Given the description of an element on the screen output the (x, y) to click on. 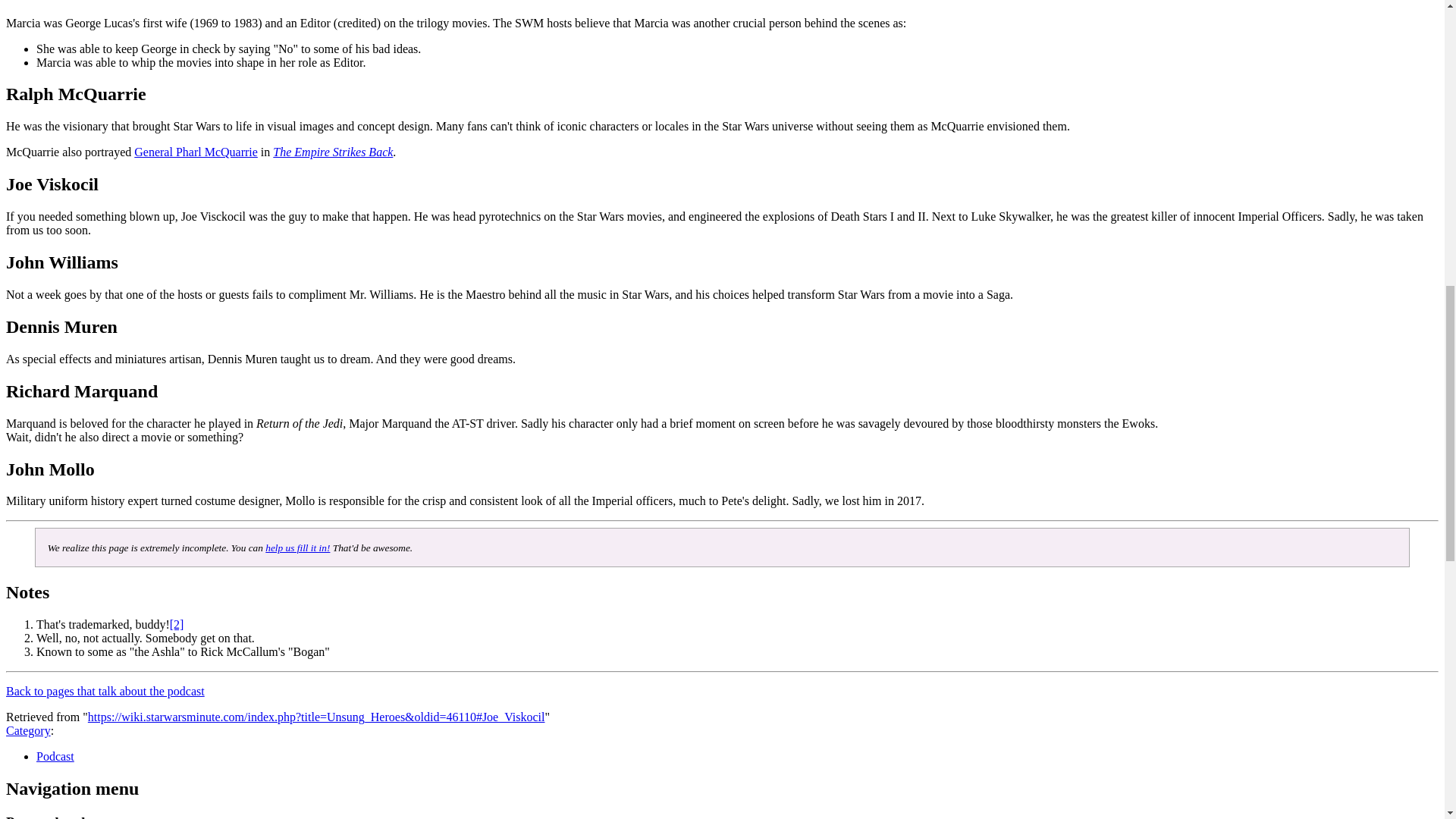
help us fill it in! (297, 547)
Special:Categories (27, 730)
General Pharl McQuarrie (195, 151)
Podcast (55, 756)
Category (27, 730)
Back to pages that talk about the podcast (105, 690)
Pages that talk about the podcast (105, 690)
The Empire Strikes Back (333, 151)
Category:Podcast (55, 756)
